Given the description of an element on the screen output the (x, y) to click on. 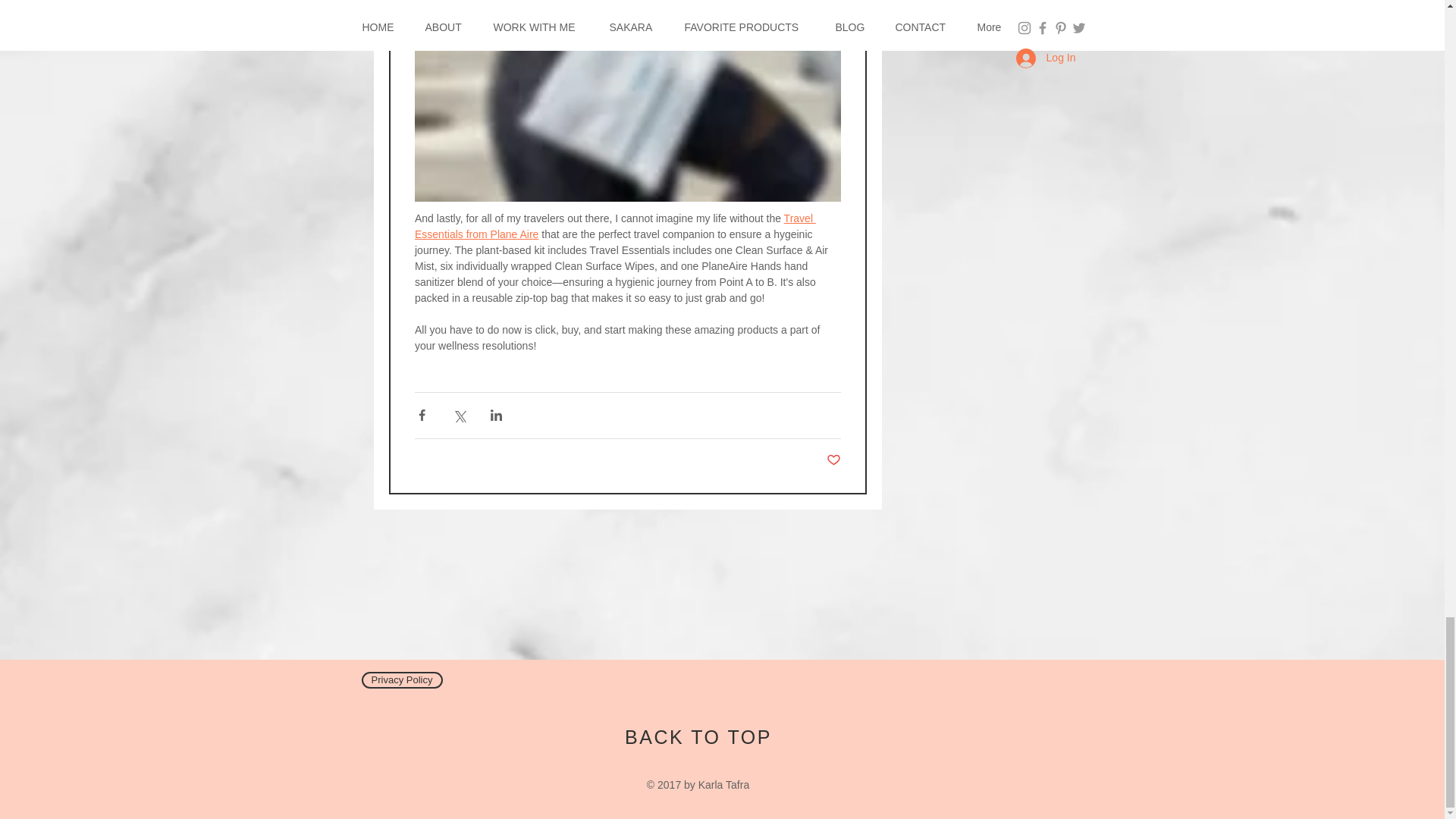
Travel Essentials from Plane Aire (614, 226)
Post not marked as liked (834, 460)
